Given the description of an element on the screen output the (x, y) to click on. 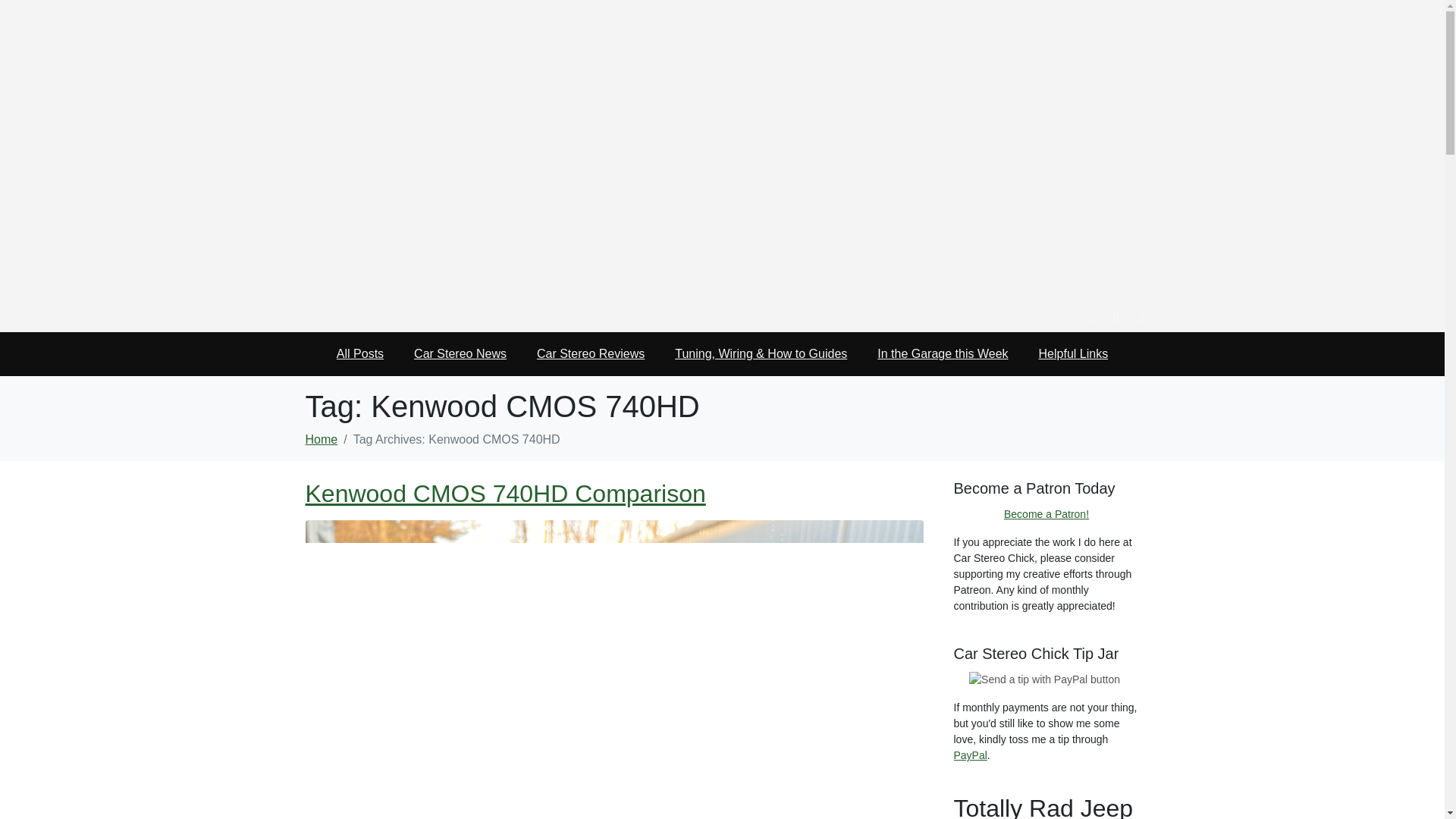
Kenwood CMOS 740HD Comparison (504, 492)
Helpful Links (1073, 353)
Car Stereo News (459, 353)
All Posts (359, 353)
In the Garage this Week (942, 353)
Car Stereo Reviews (590, 353)
PayPal - The safer, easier way to pay online! (1044, 679)
Kenwood CMOS 740HD Comparison (504, 492)
Home (320, 439)
